Given the description of an element on the screen output the (x, y) to click on. 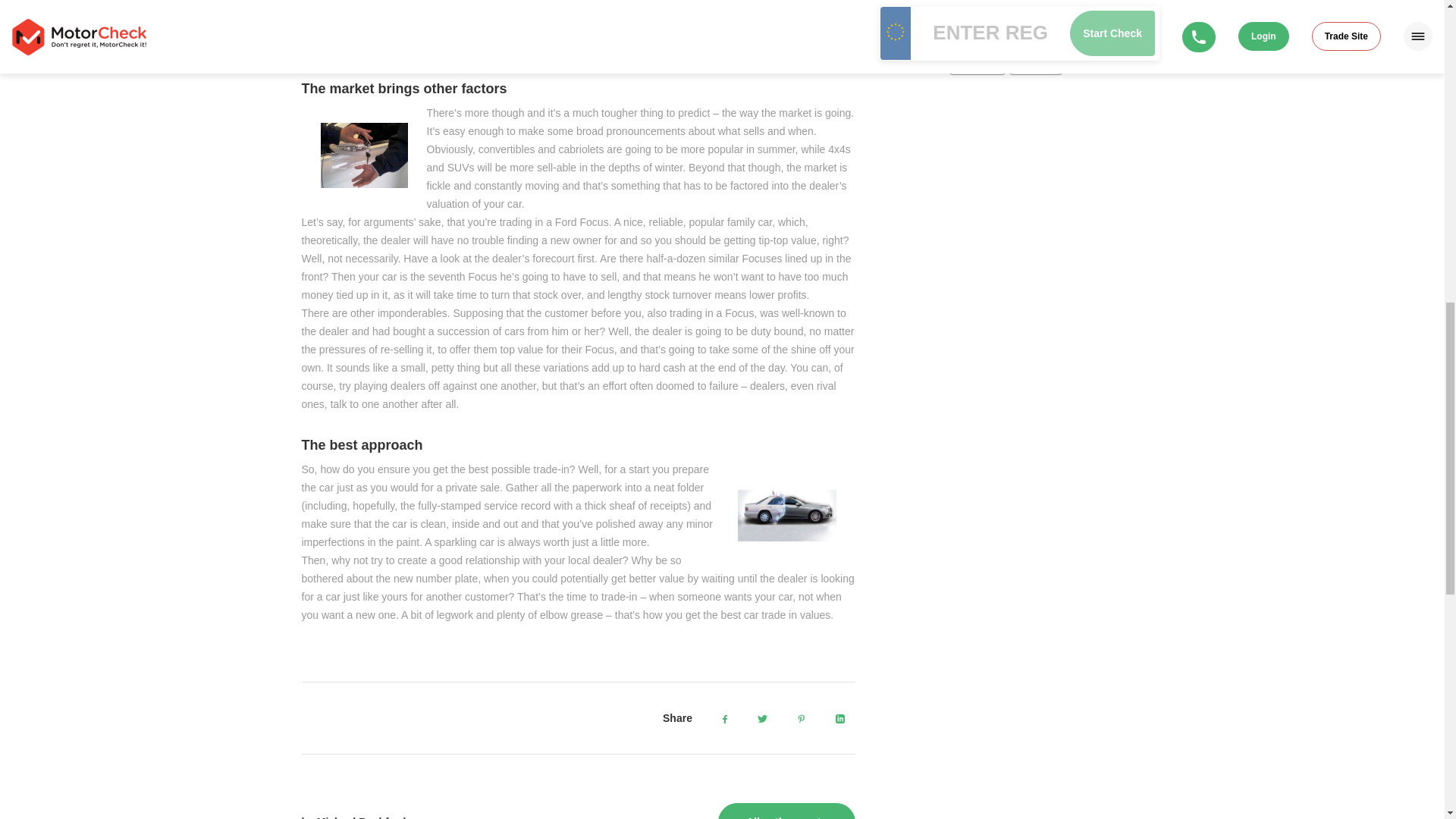
All author posts (786, 811)
